Given the description of an element on the screen output the (x, y) to click on. 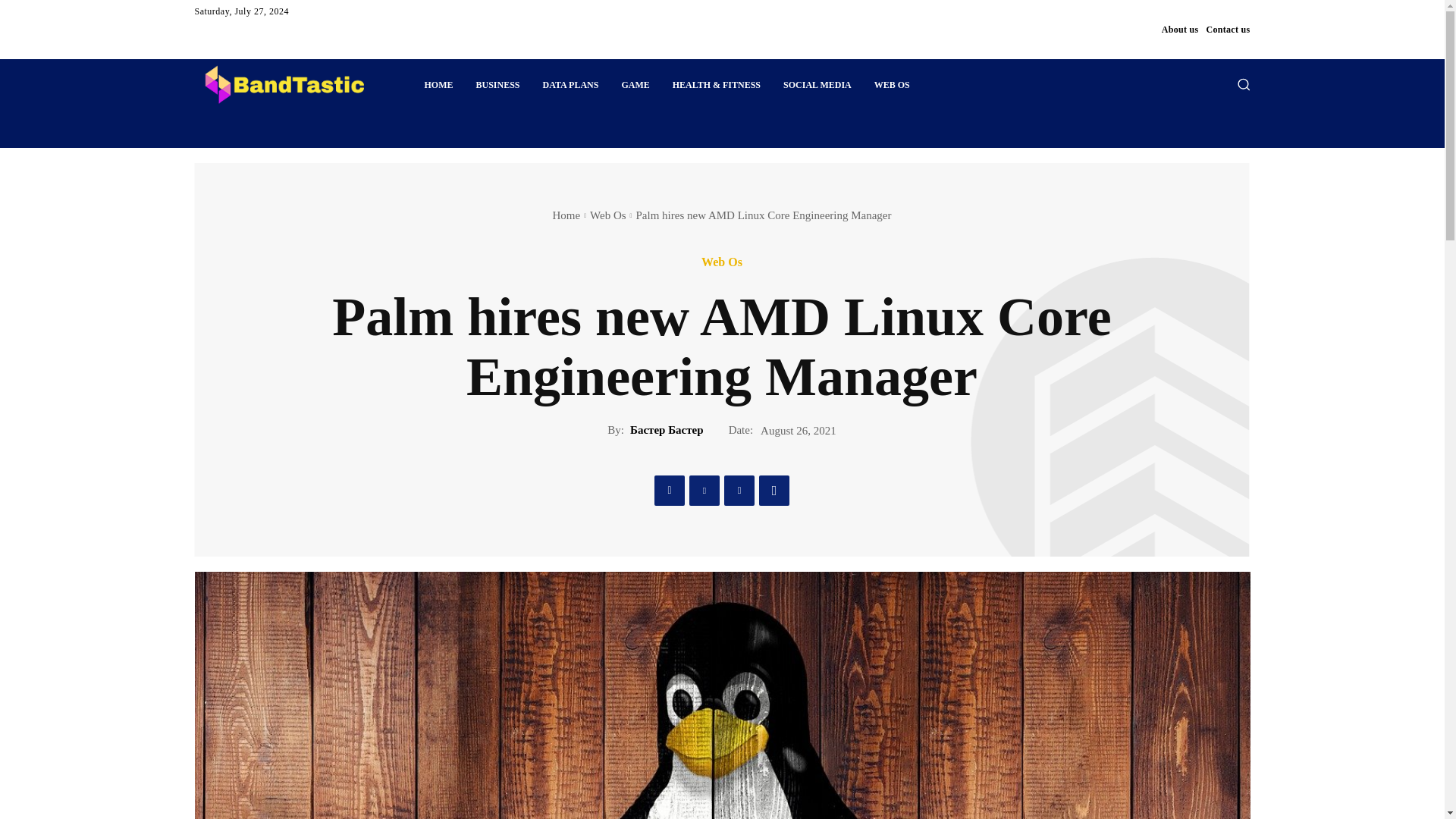
Web Os (607, 215)
HOME (438, 84)
View all posts in Web Os (607, 215)
Contact us (1227, 29)
GAME (635, 84)
WEB OS (892, 84)
Pinterest (738, 490)
SOCIAL MEDIA (817, 84)
Facebook (668, 490)
About us (1179, 29)
DATA PLANS (570, 84)
WhatsApp (773, 490)
Home (565, 215)
Web Os (721, 262)
Twitter (703, 490)
